Given the description of an element on the screen output the (x, y) to click on. 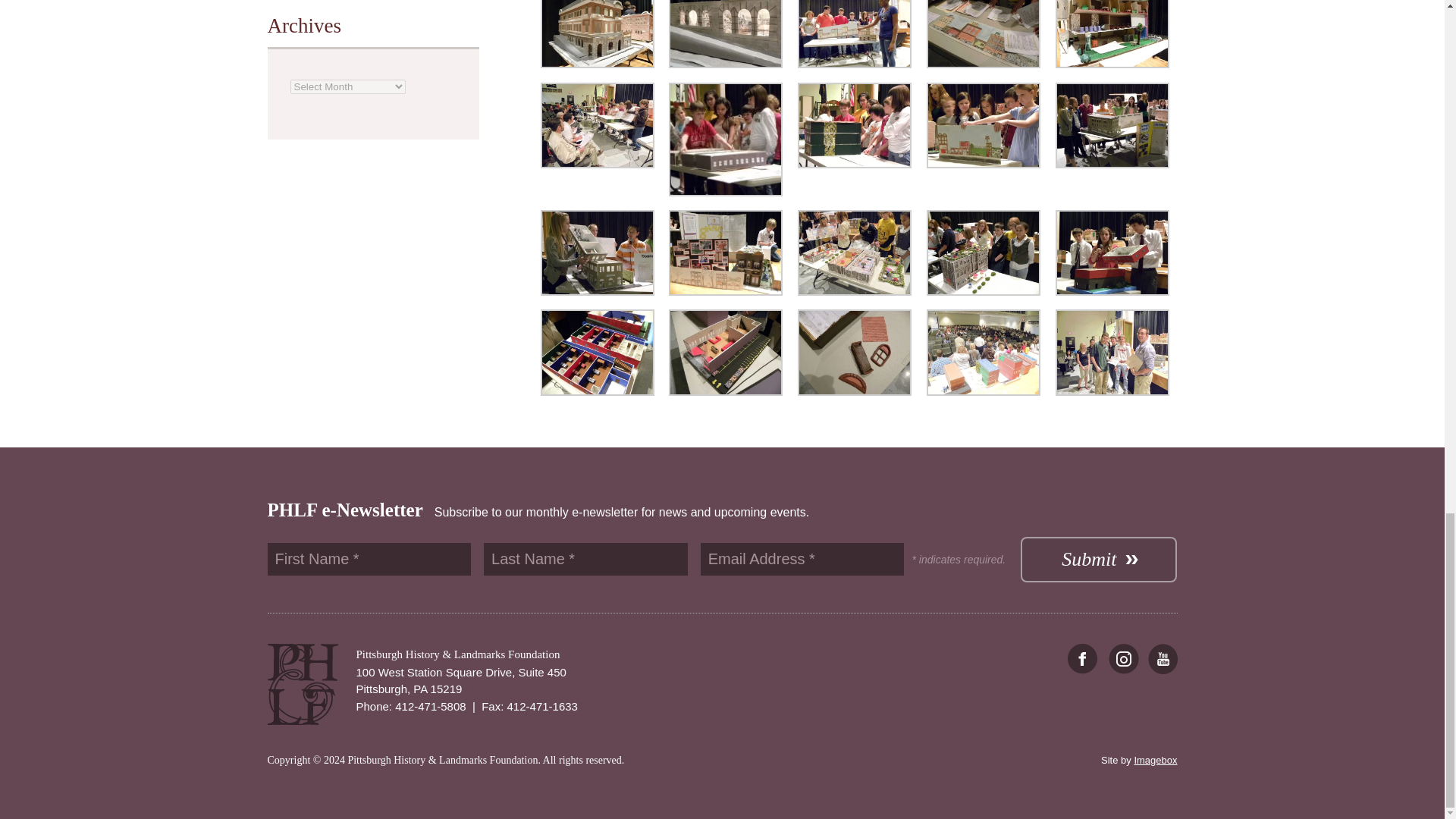
Submit (1098, 559)
